Given the description of an element on the screen output the (x, y) to click on. 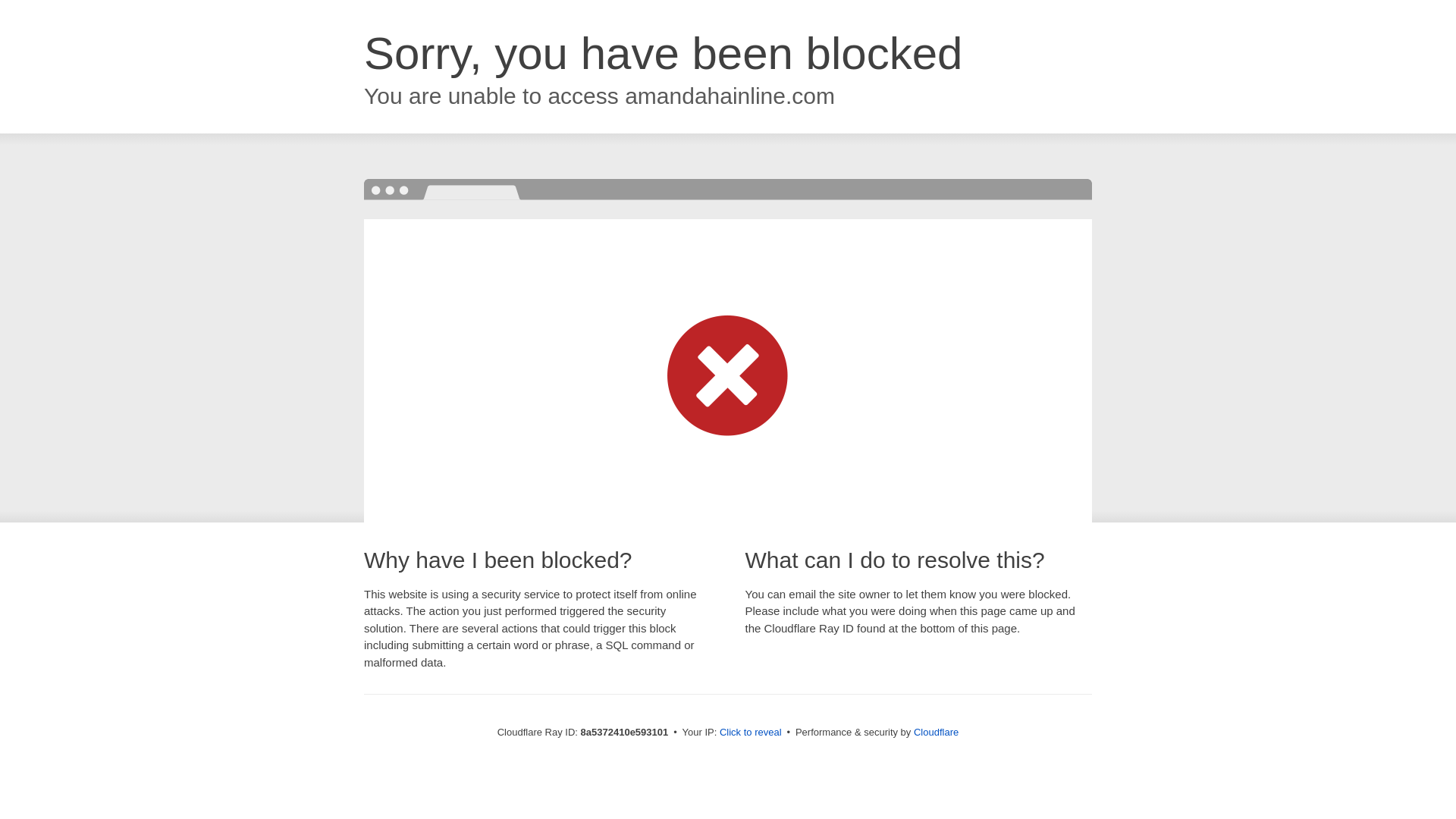
Click to reveal (750, 732)
Cloudflare (936, 731)
